Given the description of an element on the screen output the (x, y) to click on. 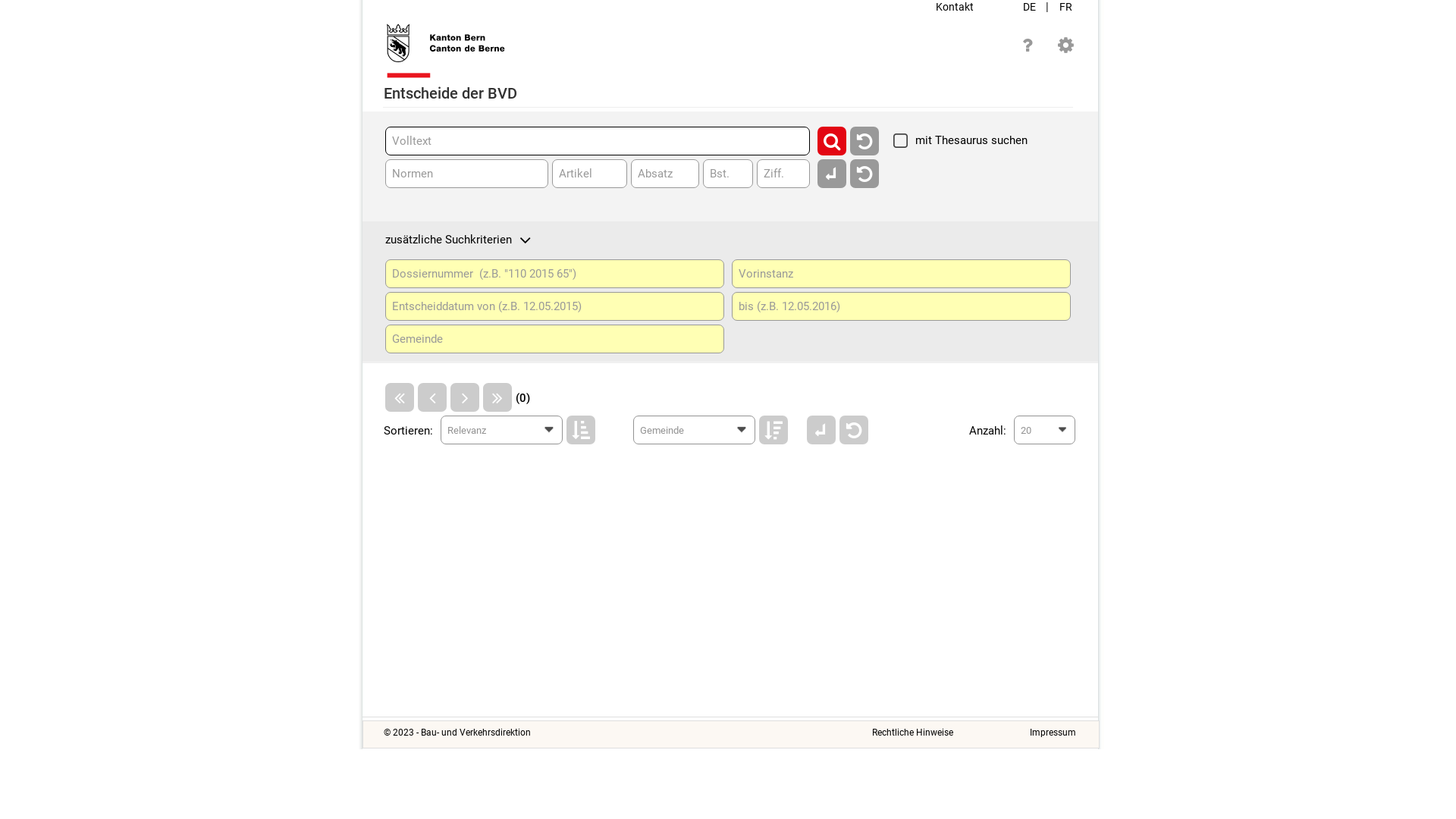
Kontakt Element type: text (954, 6)
Impressum Element type: text (1052, 732)
Rechtliche Hinweise Element type: text (912, 732)
DE Element type: text (1030, 6)
FR Element type: text (1065, 6)
